Given the description of an element on the screen output the (x, y) to click on. 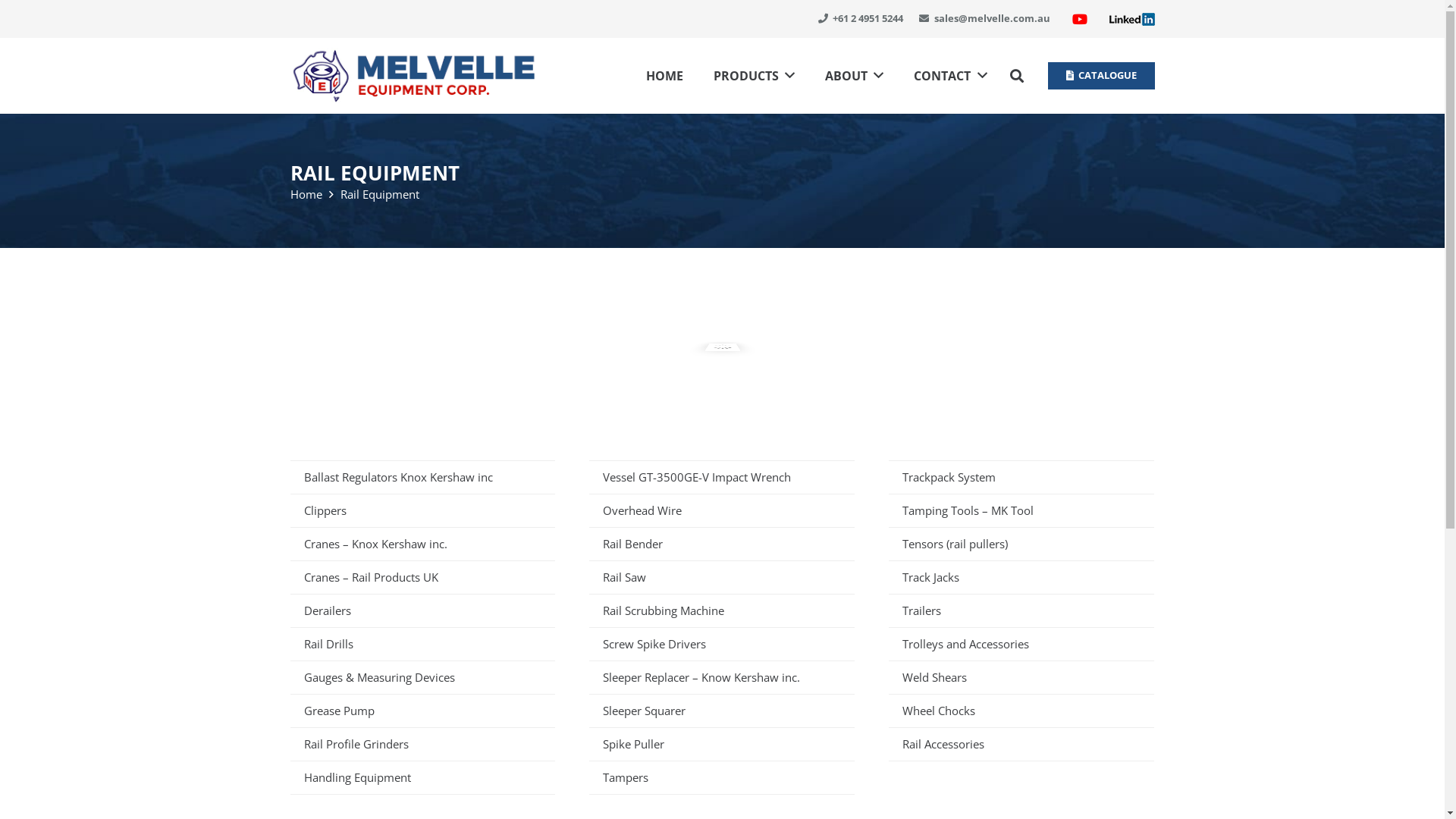
Clippers Element type: text (422, 510)
CONTACT Element type: text (949, 75)
Gauges & Measuring Devices Element type: text (422, 676)
HOME Element type: text (664, 75)
Rail Profile Grinders Element type: text (422, 743)
Tensors (rail pullers) Element type: text (1021, 543)
Trolleys and Accessories Element type: text (1021, 643)
Rail Accessories Element type: text (1021, 743)
Derailers Element type: text (422, 610)
Overhead Wire Element type: text (721, 510)
Sleeper Squarer Element type: text (721, 710)
Trailers Element type: text (1021, 610)
Rail Scrubbing Machine Element type: text (721, 610)
PRODUCTS Element type: text (753, 75)
Spike Puller Element type: text (721, 743)
YouTube Element type: hover (1079, 18)
sales@melvelle.com.au Element type: text (984, 18)
Ballast Regulators Knox Kershaw inc Element type: text (422, 476)
Grease Pump Element type: text (422, 710)
ABOUT Element type: text (853, 75)
Handling Equipment Element type: text (422, 776)
+61 2 4951 5244 Element type: text (860, 18)
Trackpack System Element type: text (1021, 476)
Rail Drills Element type: text (422, 643)
Track Jacks Element type: text (1021, 576)
Rail Bender Element type: text (721, 543)
CATALOGUE Element type: text (1101, 75)
Rail Saw Element type: text (721, 576)
Vessel GT-3500GE-V Impact Wrench Element type: text (721, 476)
Rail Equipment Element type: text (378, 193)
Weld Shears Element type: text (1021, 676)
Wheel Chocks Element type: text (1021, 710)
Tampers Element type: text (721, 776)
Screw Spike Drivers Element type: text (721, 643)
Home Element type: text (305, 193)
